Given the description of an element on the screen output the (x, y) to click on. 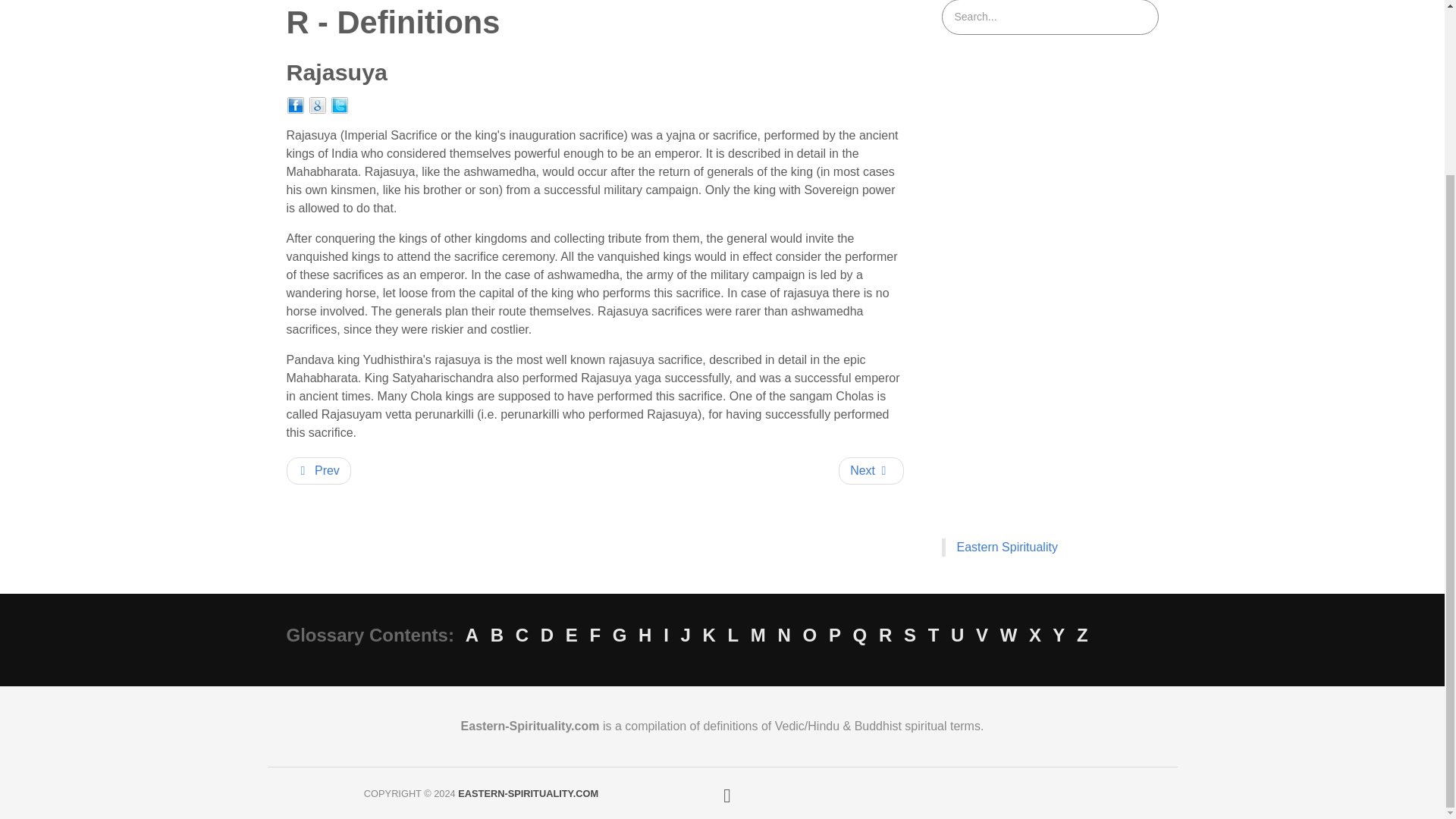
Submit to Facebook (295, 104)
Eastern Spirituality (1007, 545)
Submit to Twitter (339, 104)
Eastern-Spirituality.com (528, 792)
Prev (318, 470)
Next (870, 470)
Submit to Google Plus (316, 104)
